Given the description of an element on the screen output the (x, y) to click on. 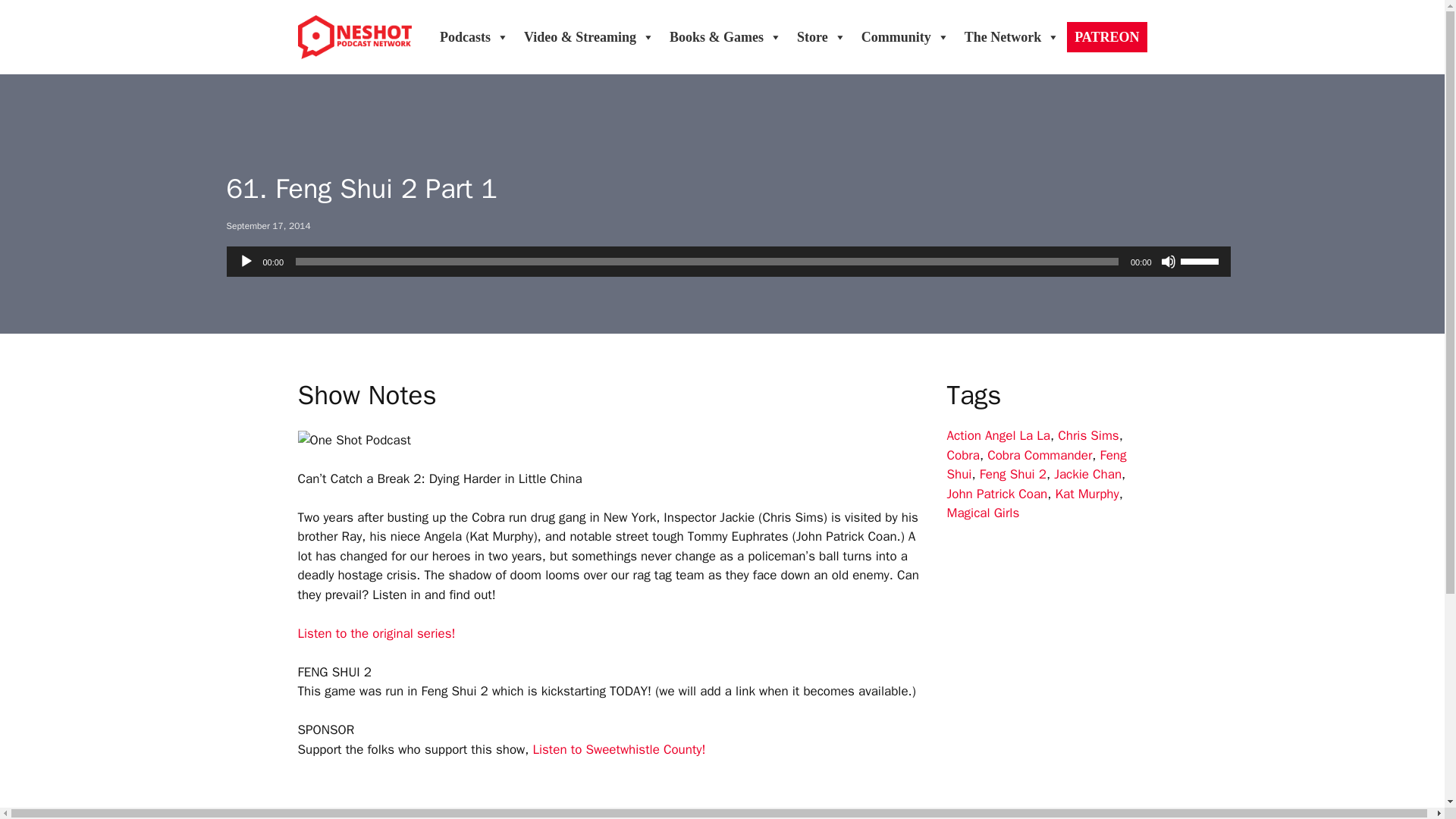
The One Shot Podcast Network (353, 36)
The One Shot Podcast Network (353, 35)
Community (904, 37)
Podcasts (474, 37)
The Network (1011, 37)
Podcasts (474, 37)
Store (821, 37)
